Given the description of an element on the screen output the (x, y) to click on. 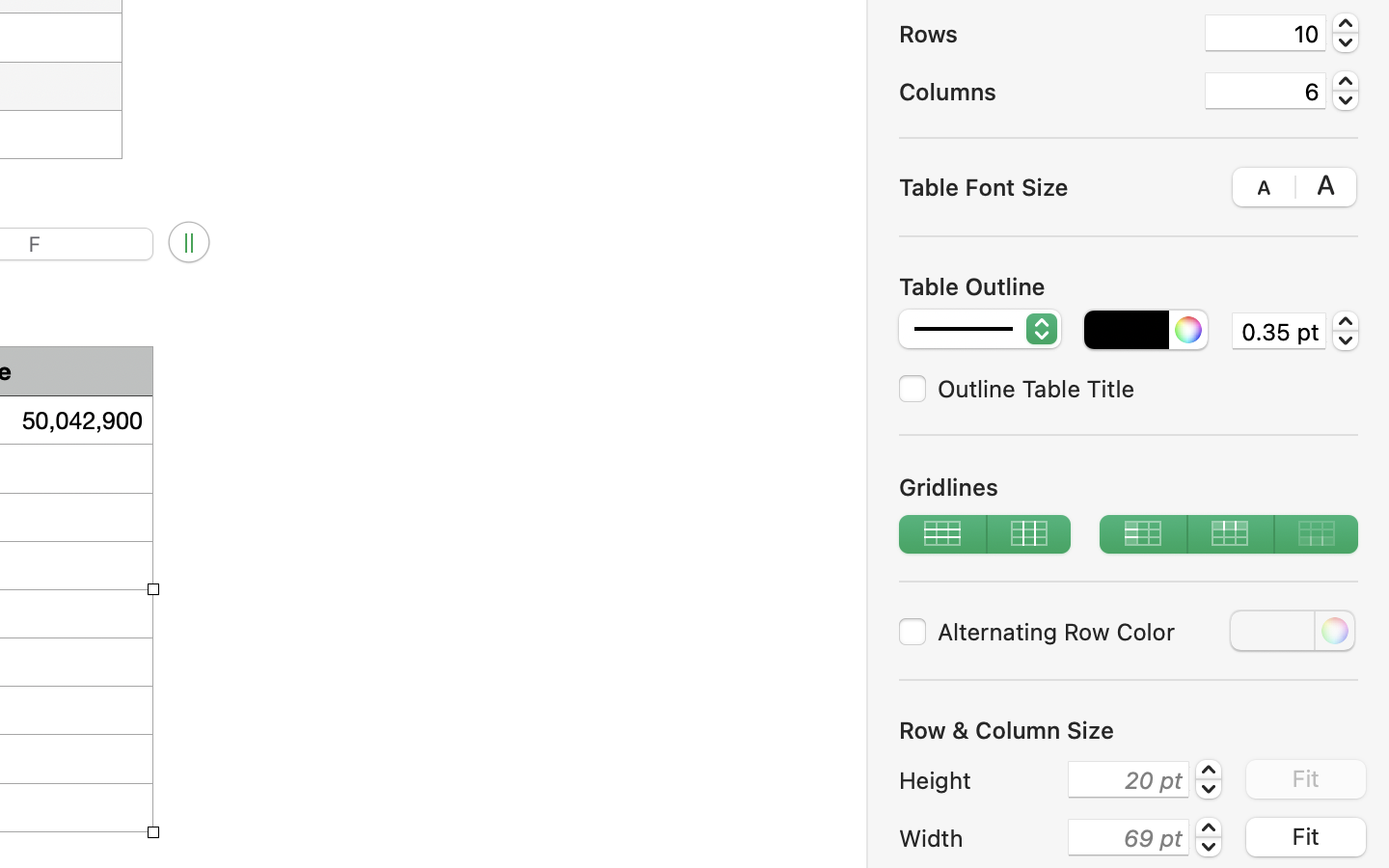
0.35 pt Element type: AXTextField (1278, 329)
69 pt Element type: AXTextField (1128, 836)
Gridlines Element type: AXStaticText (1128, 486)
6 Element type: AXTextField (1265, 90)
